Given the description of an element on the screen output the (x, y) to click on. 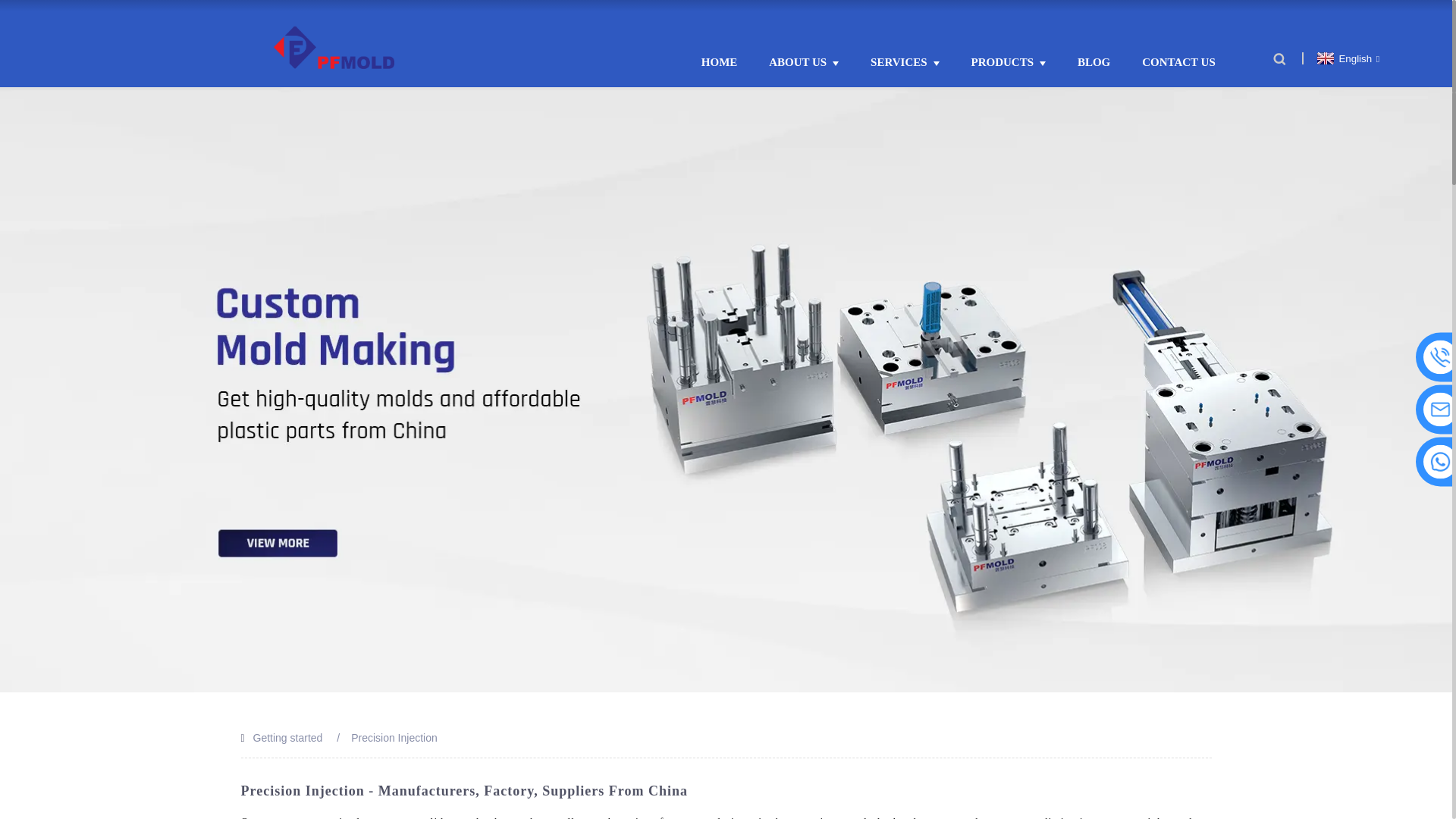
English (1345, 58)
BLOG (1093, 62)
HOME (719, 62)
Getting started (288, 737)
CONTACT US (1178, 62)
SERVICES (904, 62)
Precision Injection (394, 737)
PRODUCTS (1008, 62)
ABOUT US (803, 62)
